Given the description of an element on the screen output the (x, y) to click on. 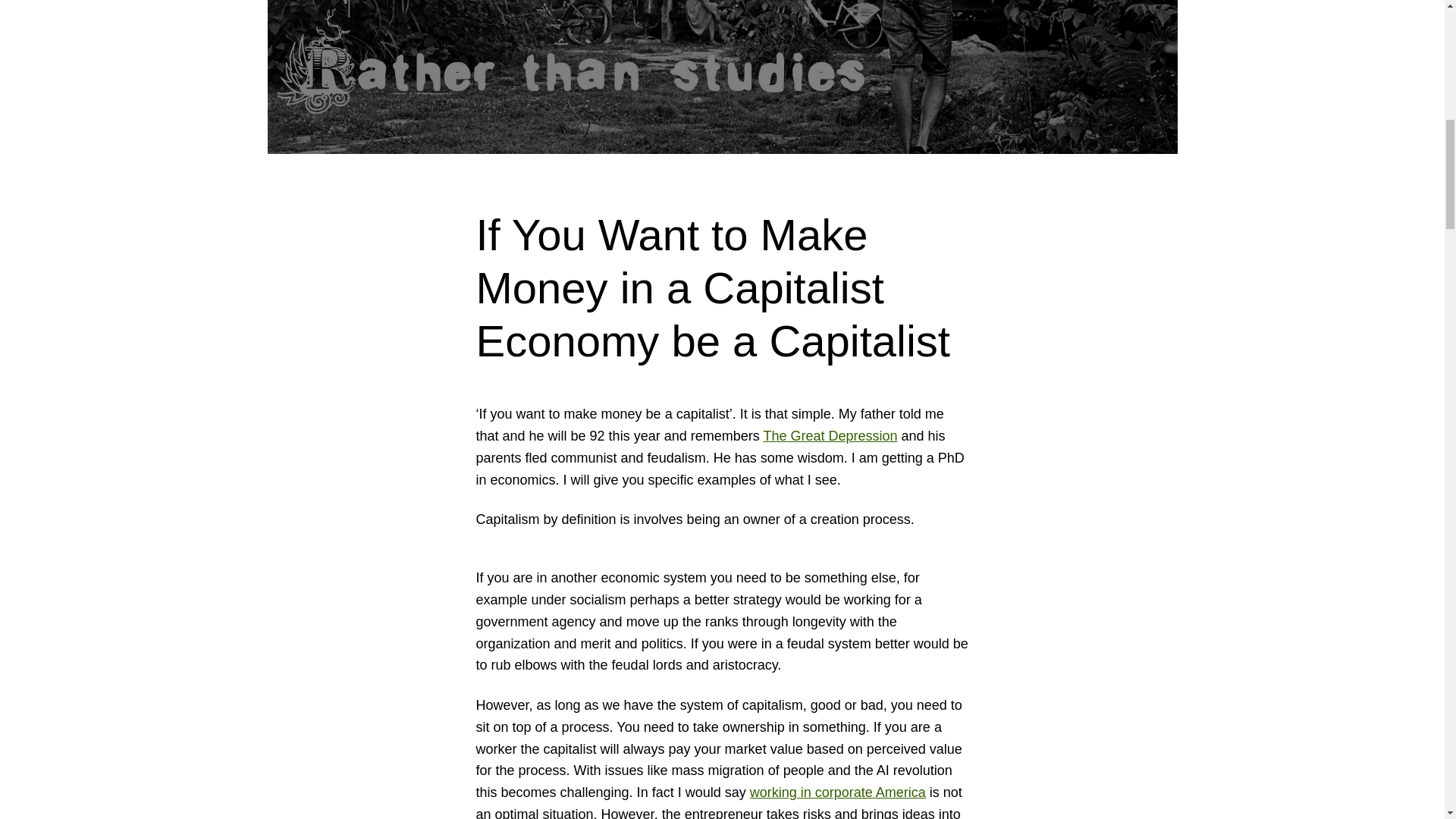
working in corporate America (837, 792)
The Great Depression (829, 435)
